Given the description of an element on the screen output the (x, y) to click on. 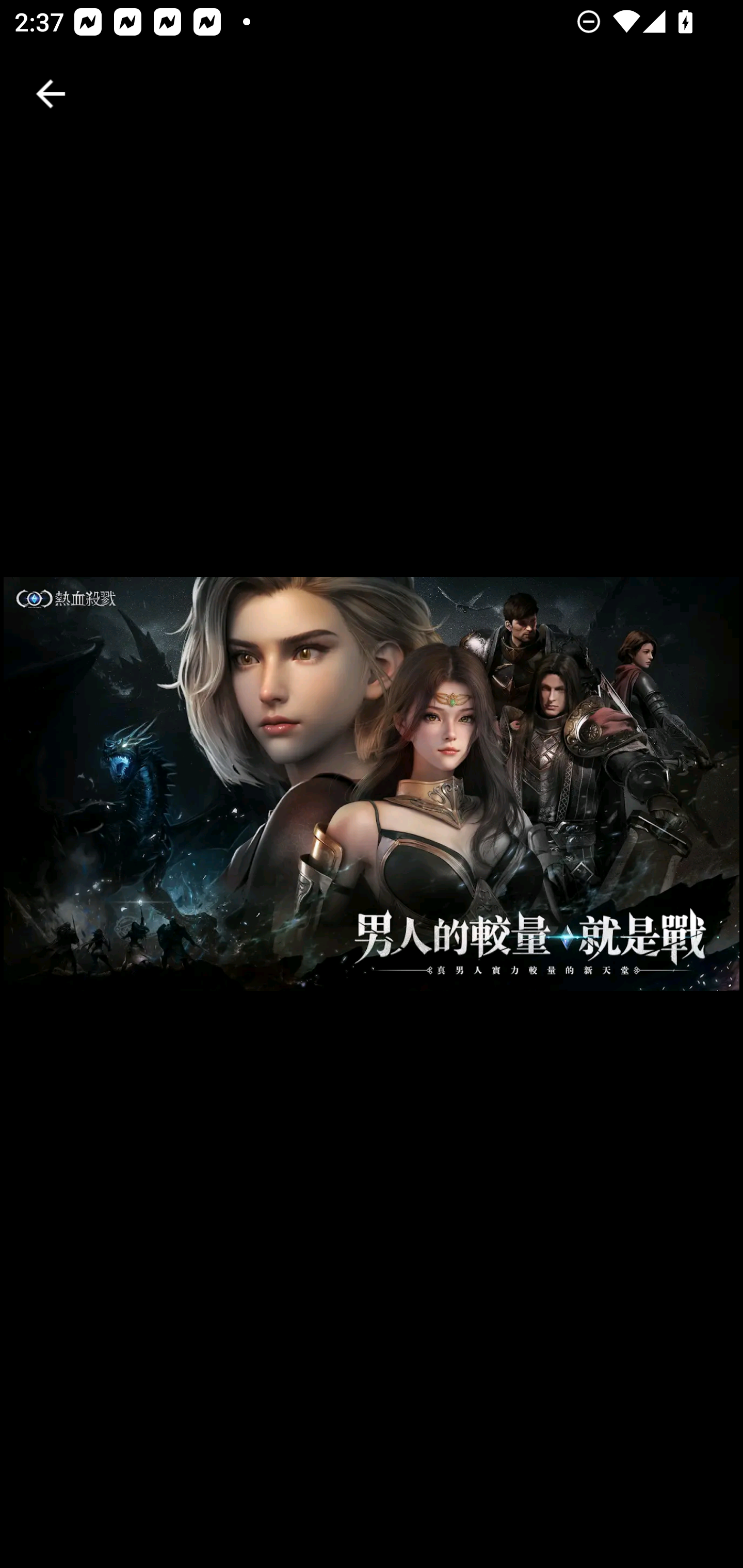
Back (50, 93)
